Given the description of an element on the screen output the (x, y) to click on. 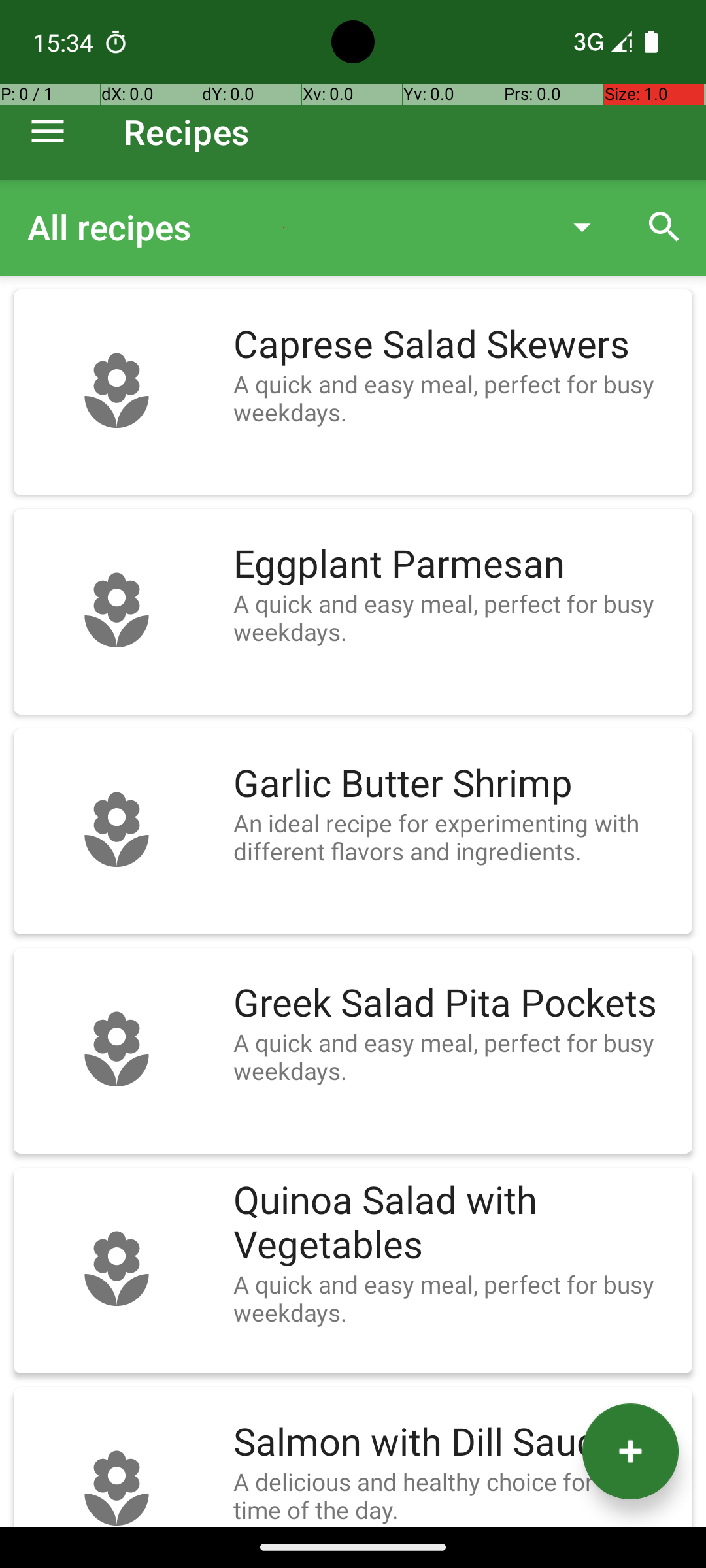
Salmon with Dill Sauce Element type: android.widget.TextView (455, 1442)
